Given the description of an element on the screen output the (x, y) to click on. 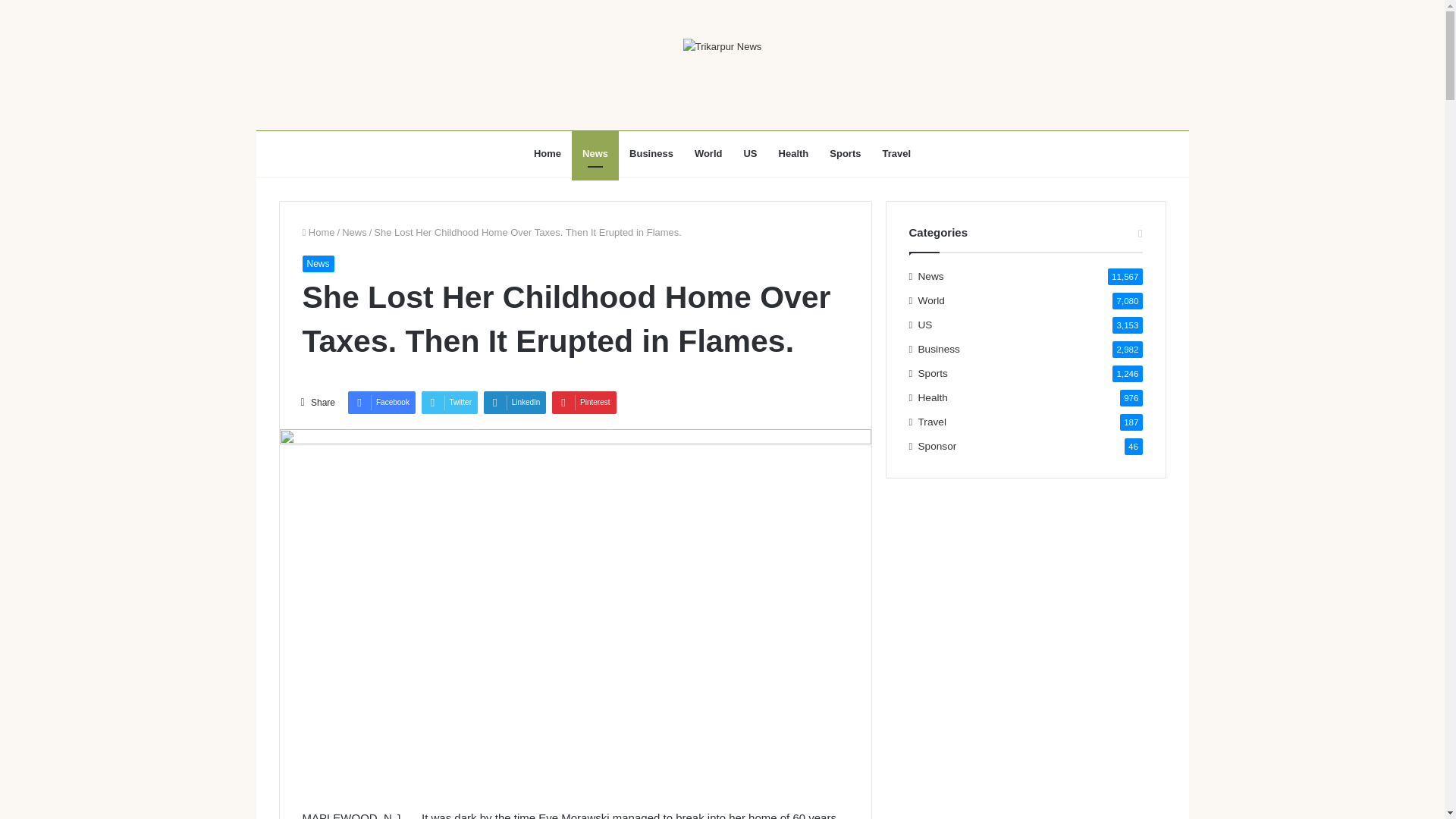
News (930, 276)
News (595, 153)
Facebook (380, 402)
News (317, 263)
Twitter (449, 402)
Twitter (449, 402)
Trikarpur News (721, 45)
Sports (844, 153)
News (354, 232)
Travel (895, 153)
LinkedIn (515, 402)
Home (317, 232)
Health (793, 153)
Pinterest (583, 402)
Home (547, 153)
